Given the description of an element on the screen output the (x, y) to click on. 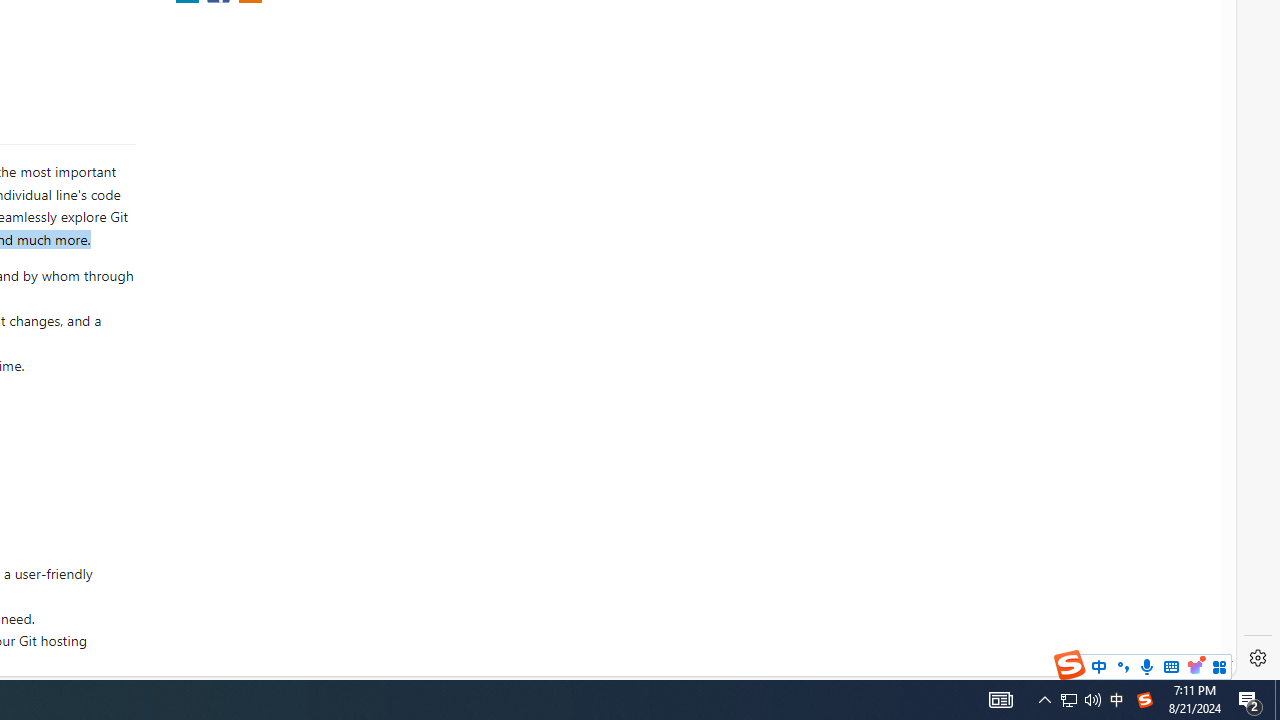
https://slack.gitkraken.com// (269, 89)
https://slack.gitkraken.com// (269, 87)
Report a concern (327, 275)
share extension on twitter (190, 321)
share extension on facebook (220, 321)
share extension on email (249, 321)
